Given the description of an element on the screen output the (x, y) to click on. 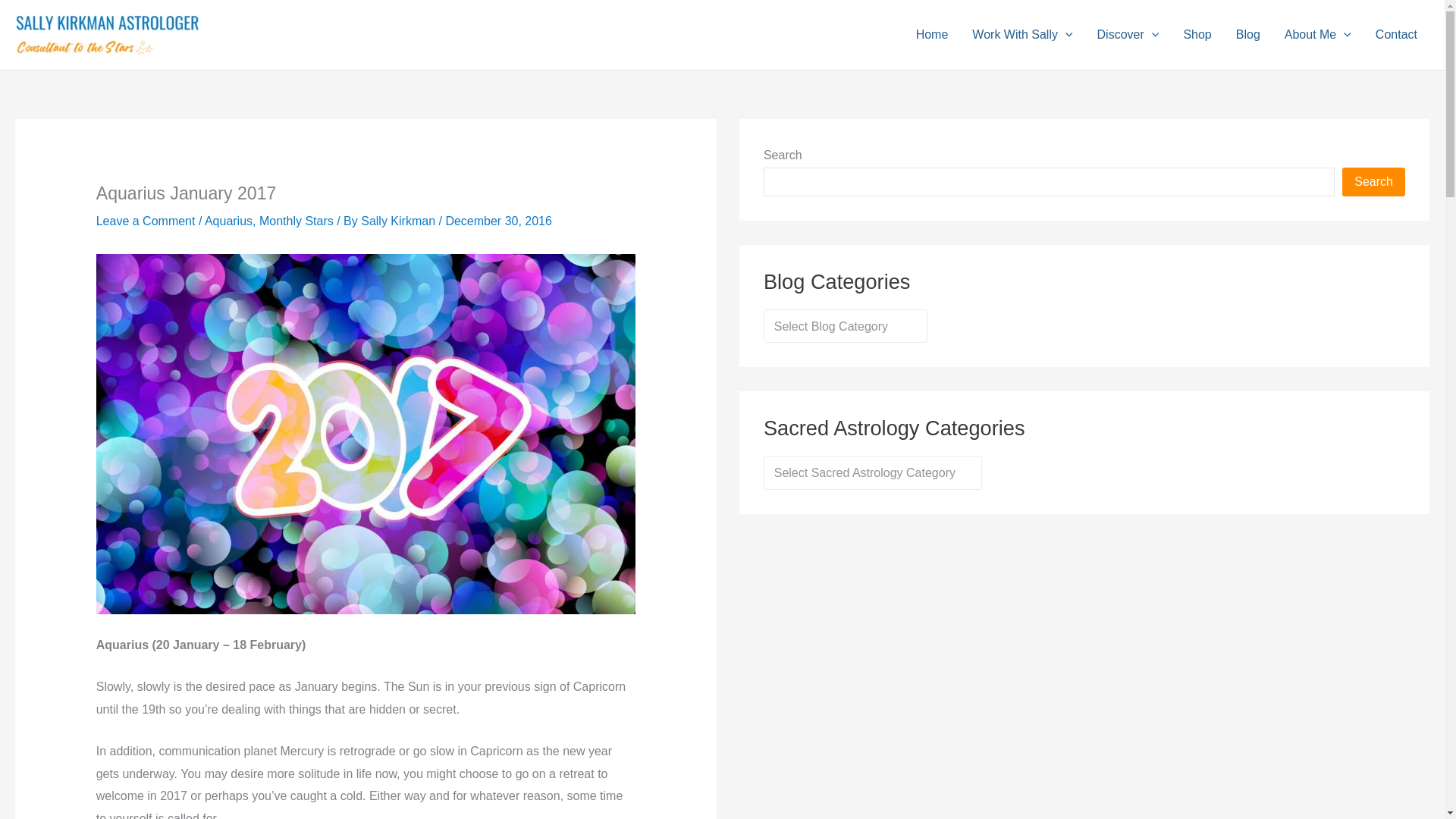
Contact (1395, 34)
View all posts by Sally Kirkman (399, 220)
Blog (1248, 34)
Discover (1128, 34)
Shop (1196, 34)
Home (932, 34)
About Me (1317, 34)
Work With Sally (1021, 34)
